Given the description of an element on the screen output the (x, y) to click on. 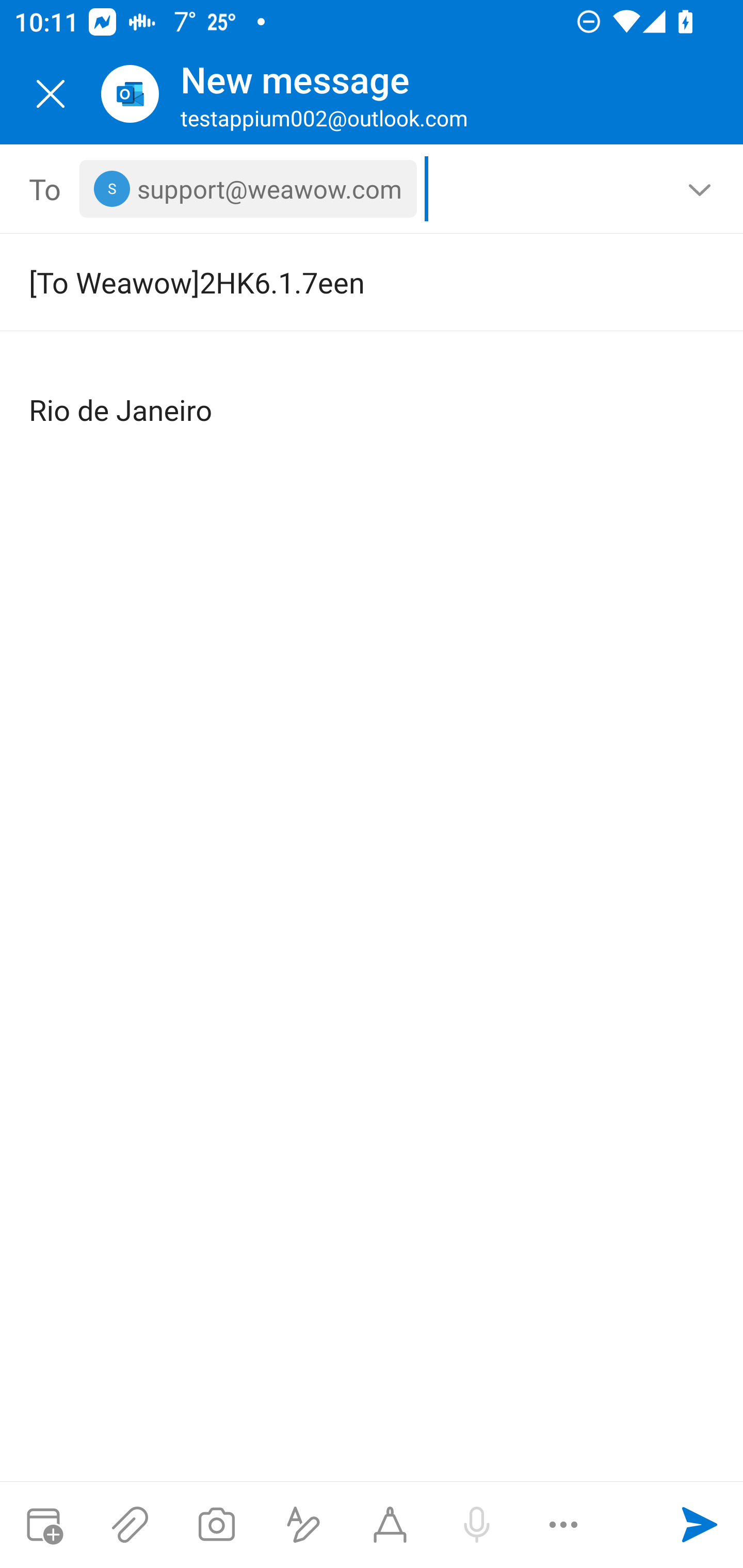
Close (50, 93)
[To Weawow]2HK6.1.7een (342, 281)

Rio de Janeiro (372, 394)
Attach meeting (43, 1524)
Attach files (129, 1524)
Take a photo (216, 1524)
Show formatting options (303, 1524)
Start Ink compose (389, 1524)
More options (563, 1524)
Send (699, 1524)
